Given the description of an element on the screen output the (x, y) to click on. 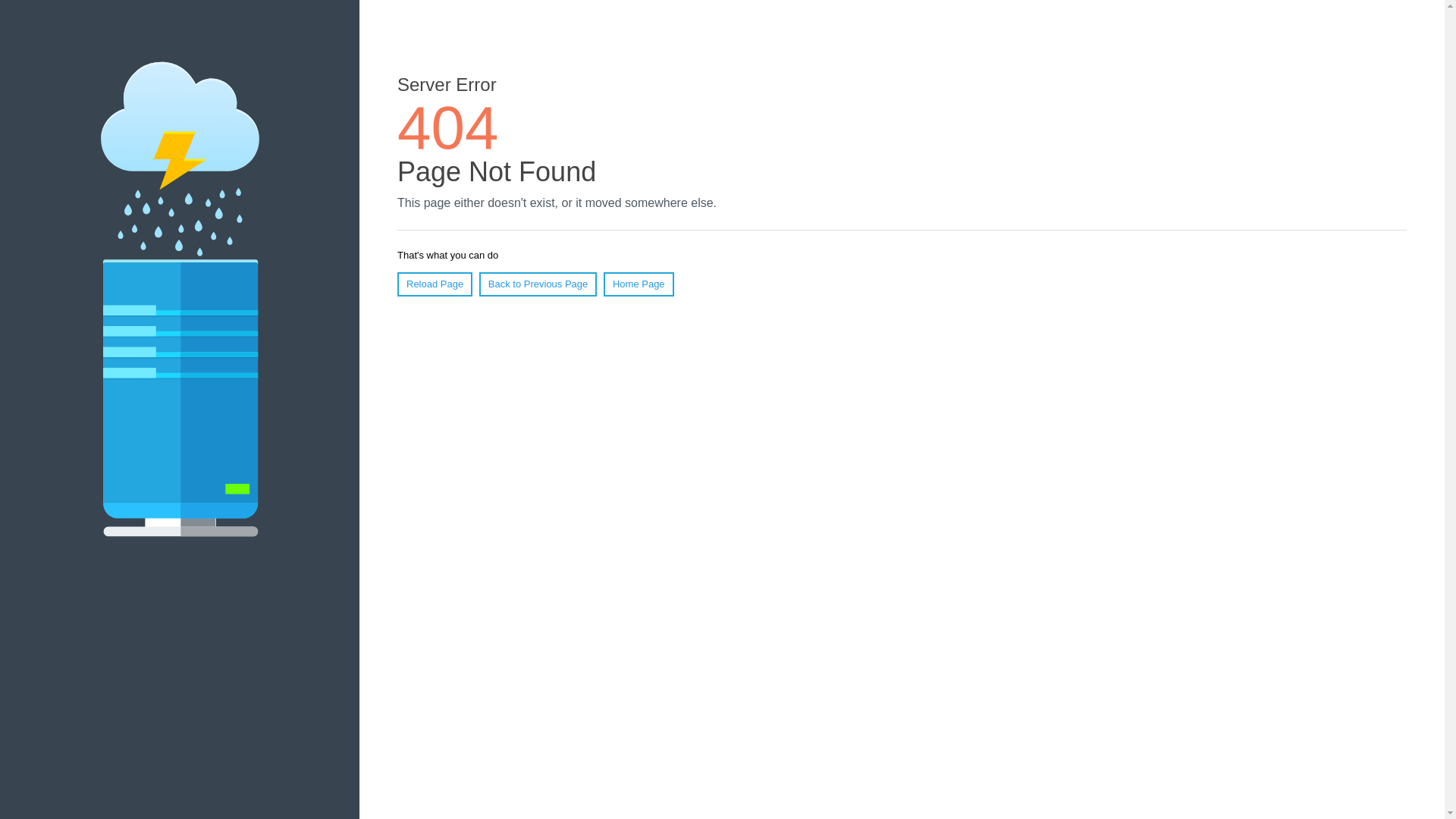
Back to Previous Page Element type: text (538, 284)
Home Page Element type: text (638, 284)
Reload Page Element type: text (434, 284)
